Given the description of an element on the screen output the (x, y) to click on. 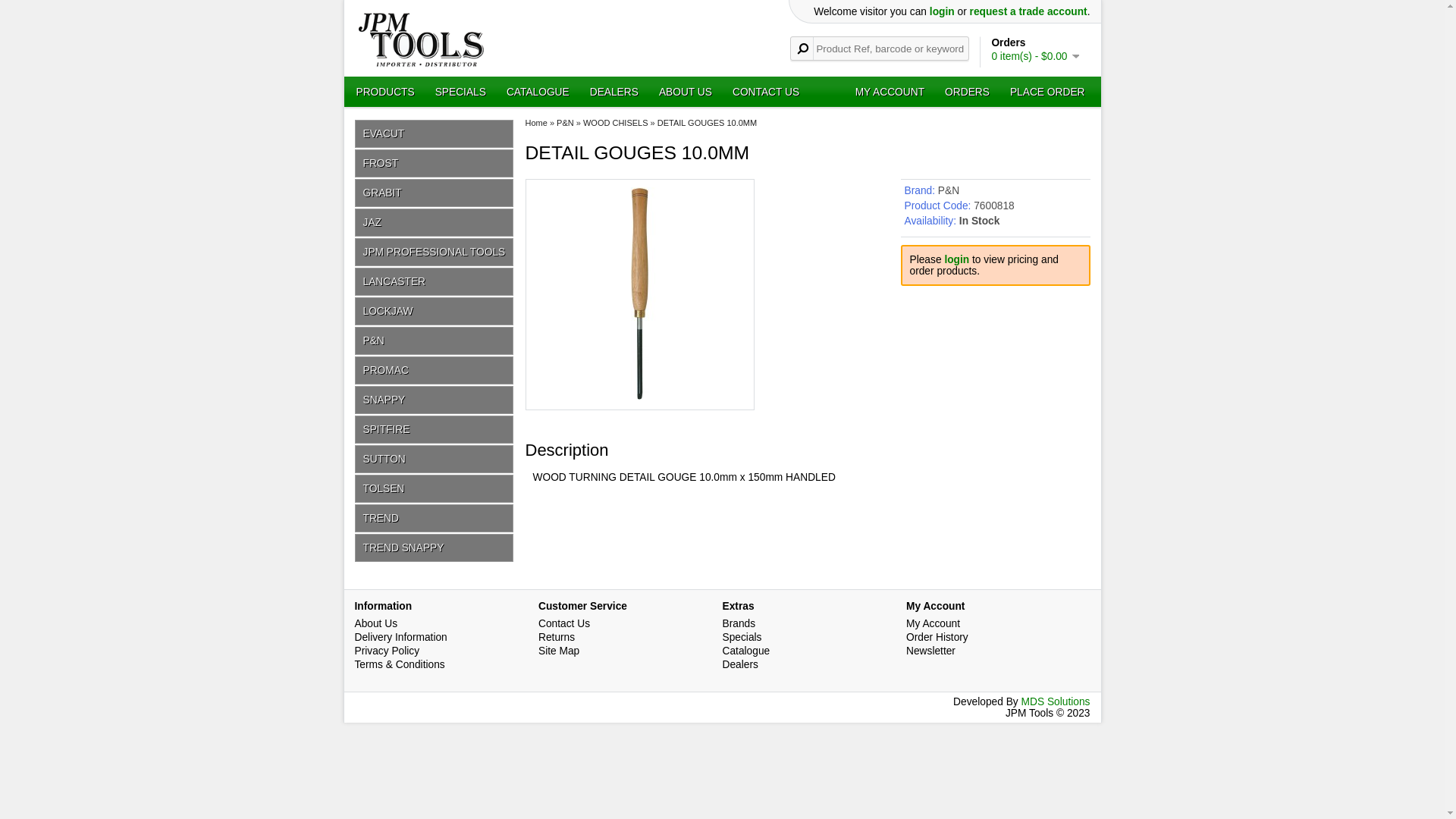
DETAIL GOUGES 10.0MM Element type: text (706, 122)
JAZ Element type: text (434, 222)
request a trade account Element type: text (1028, 11)
P&N Element type: text (948, 190)
LOCKJAW Element type: text (434, 311)
Site Map Element type: text (558, 650)
DETAIL GOUGES 10.0MM Element type: hover (639, 395)
Delivery Information Element type: text (400, 637)
TOLSEN Element type: text (434, 488)
Catalogue Element type: text (745, 650)
FROST Element type: text (434, 163)
Specials Element type: text (741, 637)
ABOUT US Element type: text (685, 92)
TREND Element type: text (434, 518)
Home Element type: text (535, 122)
login Element type: text (941, 11)
Terms & Conditions Element type: text (399, 664)
SPECIALS Element type: text (460, 92)
About Us Element type: text (376, 623)
JPM PROFESSIONAL TOOLS Element type: text (434, 252)
ORDERS Element type: text (966, 92)
SNAPPY Element type: text (434, 399)
EVACUT Element type: text (434, 133)
Brands Element type: text (738, 623)
PRODUCTS Element type: text (384, 92)
WOOD CHISELS Element type: text (615, 122)
MY ACCOUNT Element type: text (889, 92)
PLACE ORDER Element type: text (1047, 92)
SPITFIRE Element type: text (434, 429)
MDS Solutions Element type: text (1055, 701)
Privacy Policy Element type: text (387, 650)
Dealers Element type: text (739, 664)
PROMAC Element type: text (434, 370)
P&N Element type: text (565, 122)
login Element type: text (956, 259)
DEALERS Element type: text (613, 92)
P&N Element type: text (434, 340)
My Account Element type: text (933, 623)
TREND SNAPPY Element type: text (434, 547)
Returns Element type: text (556, 637)
GRABIT Element type: text (434, 192)
JPM Tools Element type: hover (421, 39)
Contact Us Element type: text (563, 623)
DETAIL GOUGES 10.0MM Element type: hover (639, 293)
SUTTON Element type: text (434, 459)
CATALOGUE Element type: text (537, 92)
Newsletter Element type: text (930, 650)
Order History Element type: text (937, 637)
CONTACT US Element type: text (765, 92)
LANCASTER Element type: text (434, 281)
0 item(s) - $0.00 Element type: text (1034, 56)
